Given the description of an element on the screen output the (x, y) to click on. 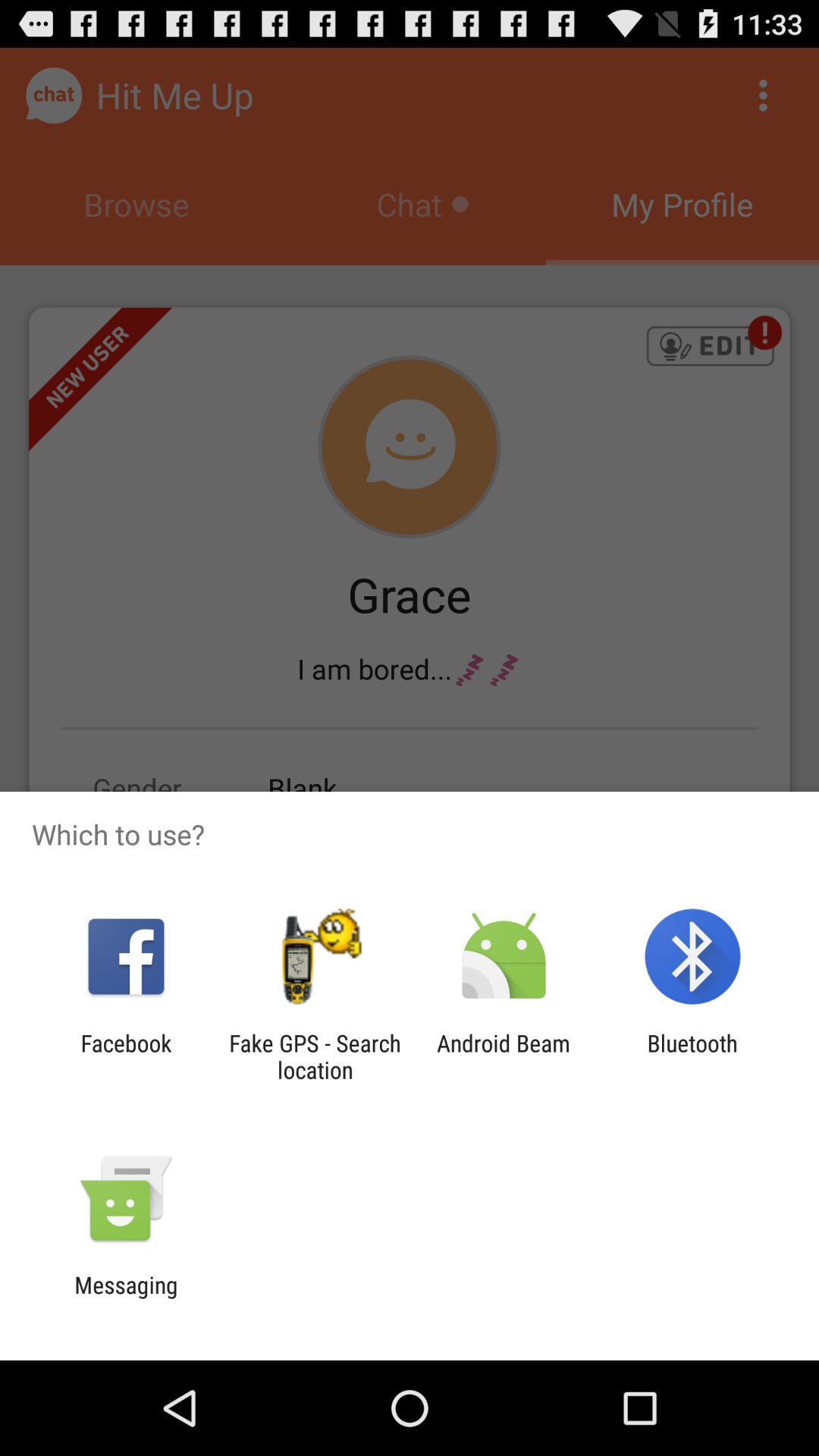
click app next to the fake gps search app (503, 1056)
